Given the description of an element on the screen output the (x, y) to click on. 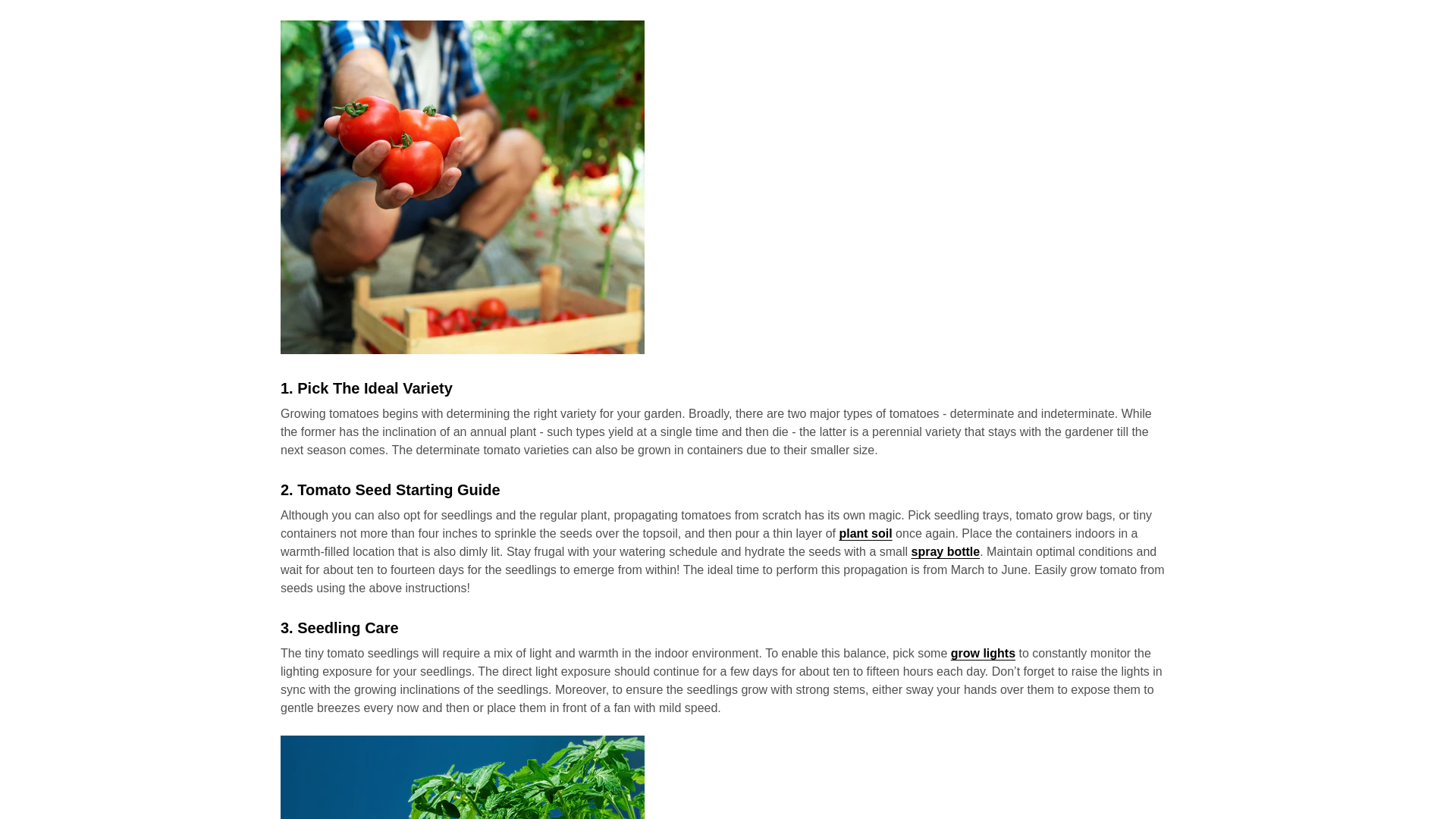
spray bottle (945, 551)
Spray Bottle (945, 551)
grow lights (982, 653)
Grow Lights (982, 653)
plant Soil (864, 533)
plant soil (864, 533)
